Given the description of an element on the screen output the (x, y) to click on. 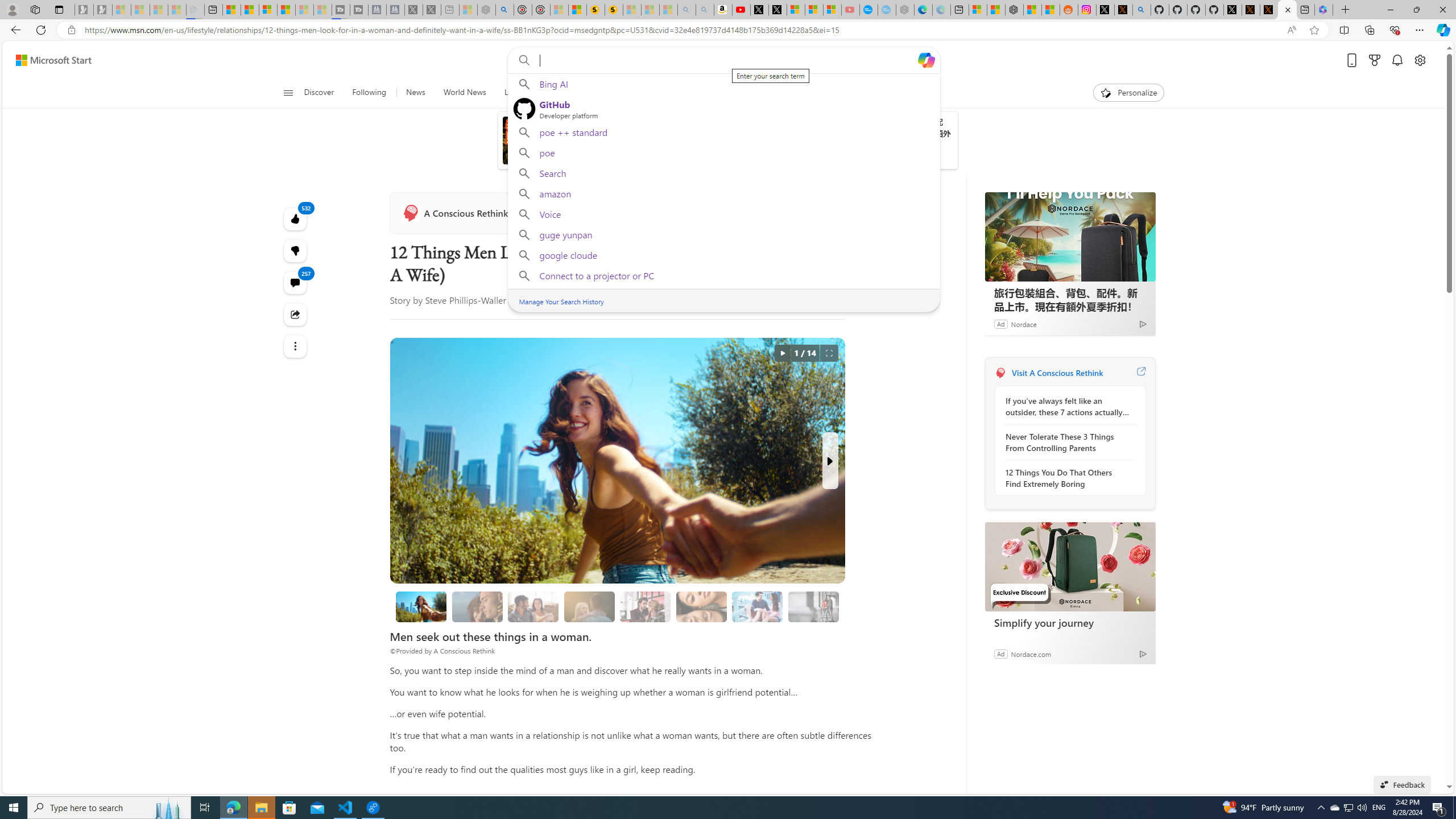
532 Like (295, 218)
Entertainment (748, 92)
More like this532Fewer like thisView comments (295, 250)
12 Things You Do That Others Find Extremely Boring (1066, 477)
Technology (605, 92)
Login | Microsoft 365 (1324, 9)
Connect to a projector or PC (723, 277)
